Given the description of an element on the screen output the (x, y) to click on. 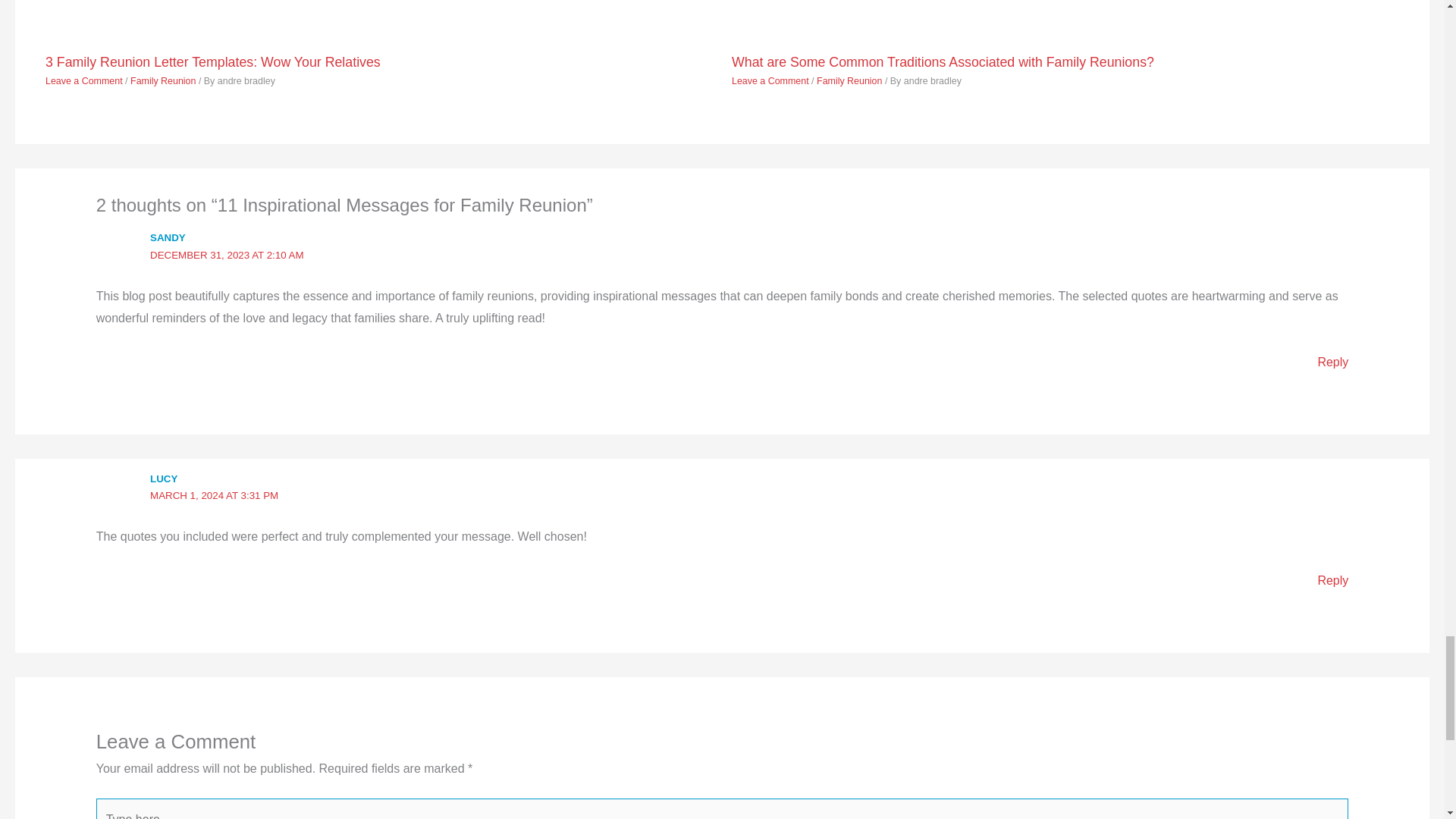
View all posts by andre bradley (245, 81)
View all posts by andre bradley (932, 81)
Leave a Comment (83, 81)
3 Family Reunion Letter Templates: Wow Your Relatives (212, 61)
